Given the description of an element on the screen output the (x, y) to click on. 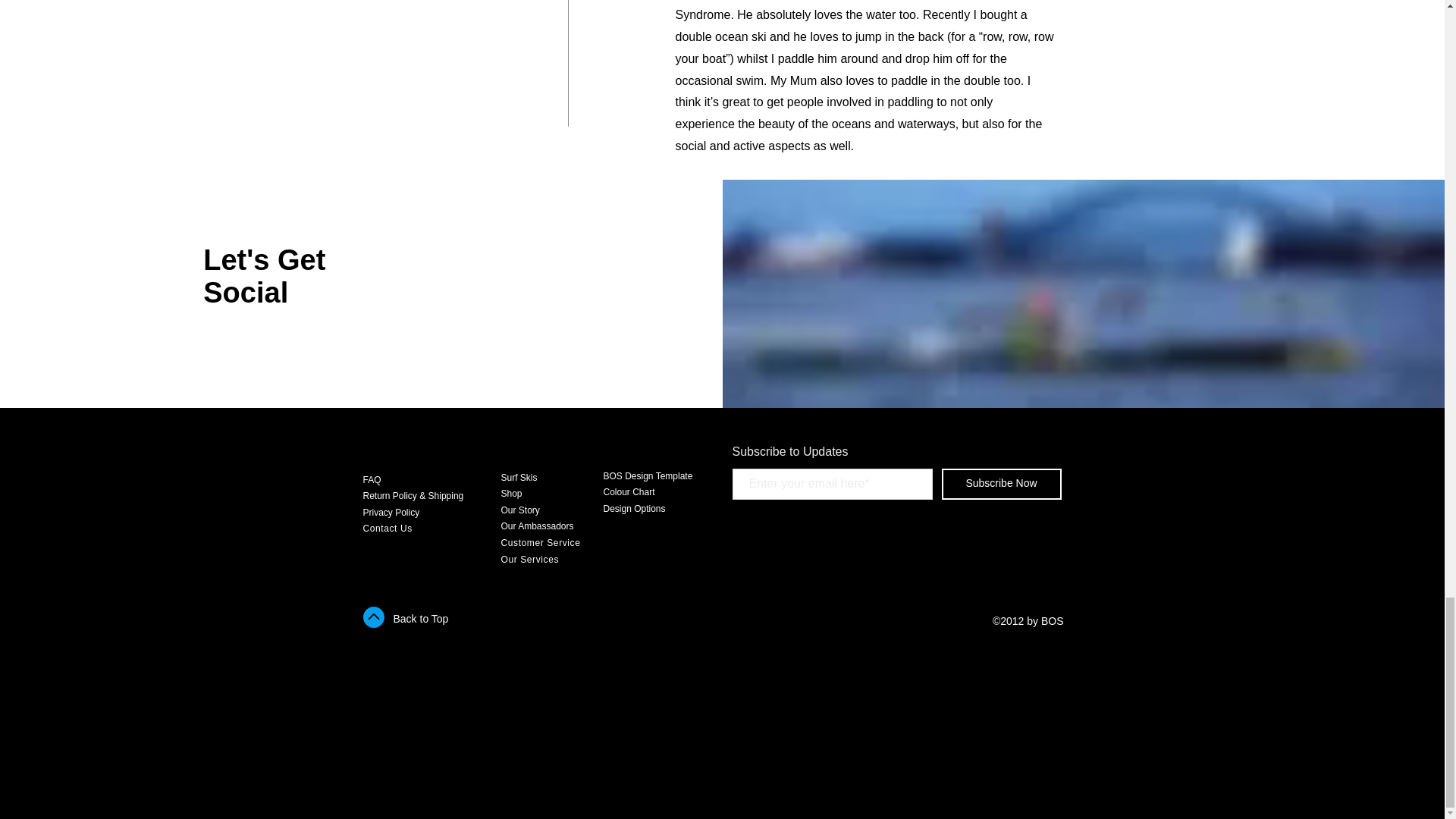
Shop (510, 493)
BOS Design Template (648, 475)
Colour Chart (629, 491)
Our Story (519, 510)
Customer Service (539, 542)
FAQ (371, 480)
Surf Skis (518, 477)
Design Options (634, 508)
Our Ambassadors (536, 525)
Privacy Policy (390, 511)
